Given the description of an element on the screen output the (x, y) to click on. 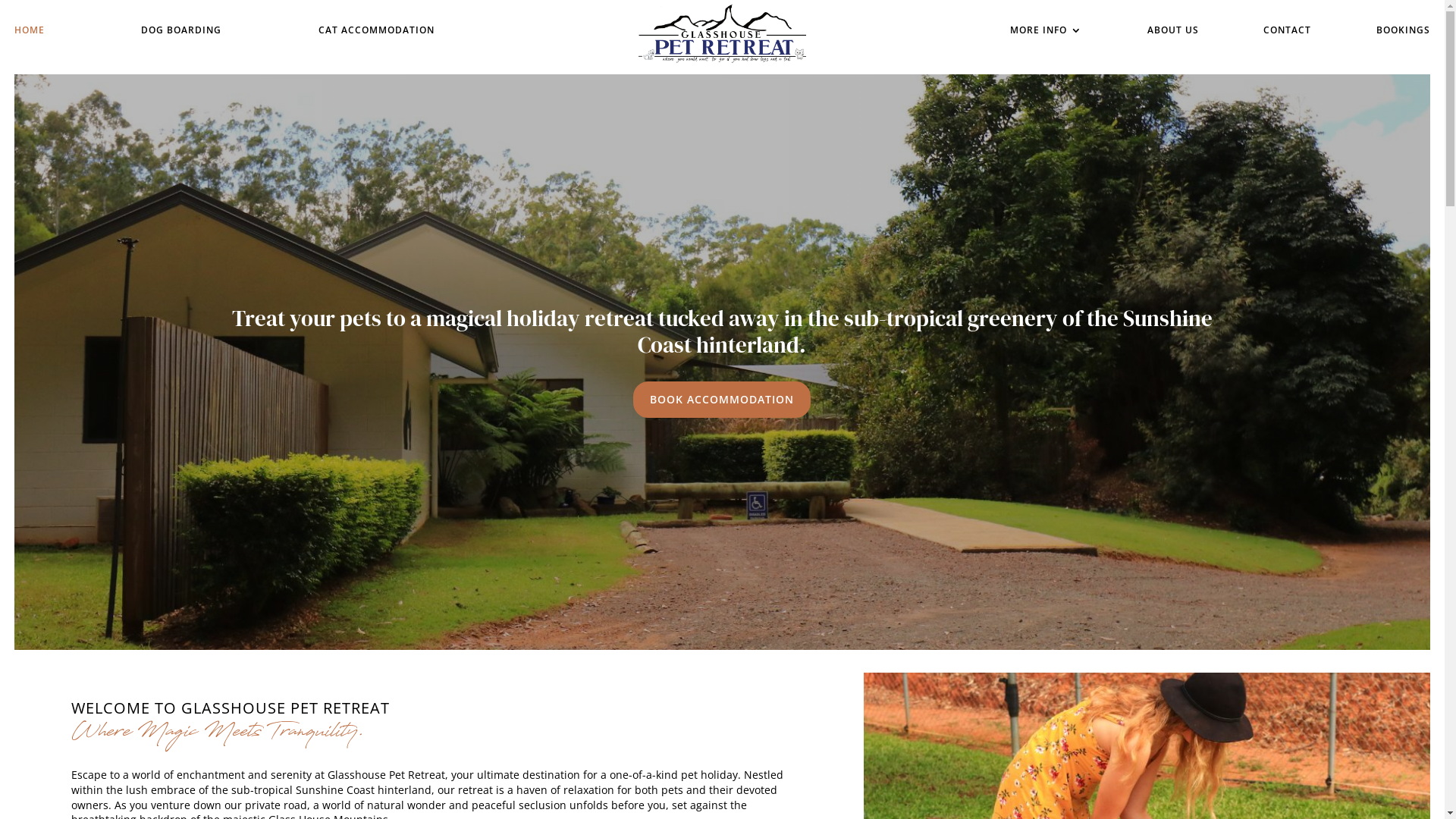
CONTACT Element type: text (1287, 33)
ABOUT US Element type: text (1172, 33)
Glasshouse Pet Retreat Logo web Element type: hover (722, 32)
DOG BOARDING Element type: text (181, 33)
BOOK ACCOMMODATION Element type: text (721, 399)
MORE INFO Element type: text (1046, 33)
CAT ACCOMMODATION Element type: text (376, 33)
BOOKINGS Element type: text (1403, 33)
HOME Element type: text (29, 33)
